Given the description of an element on the screen output the (x, y) to click on. 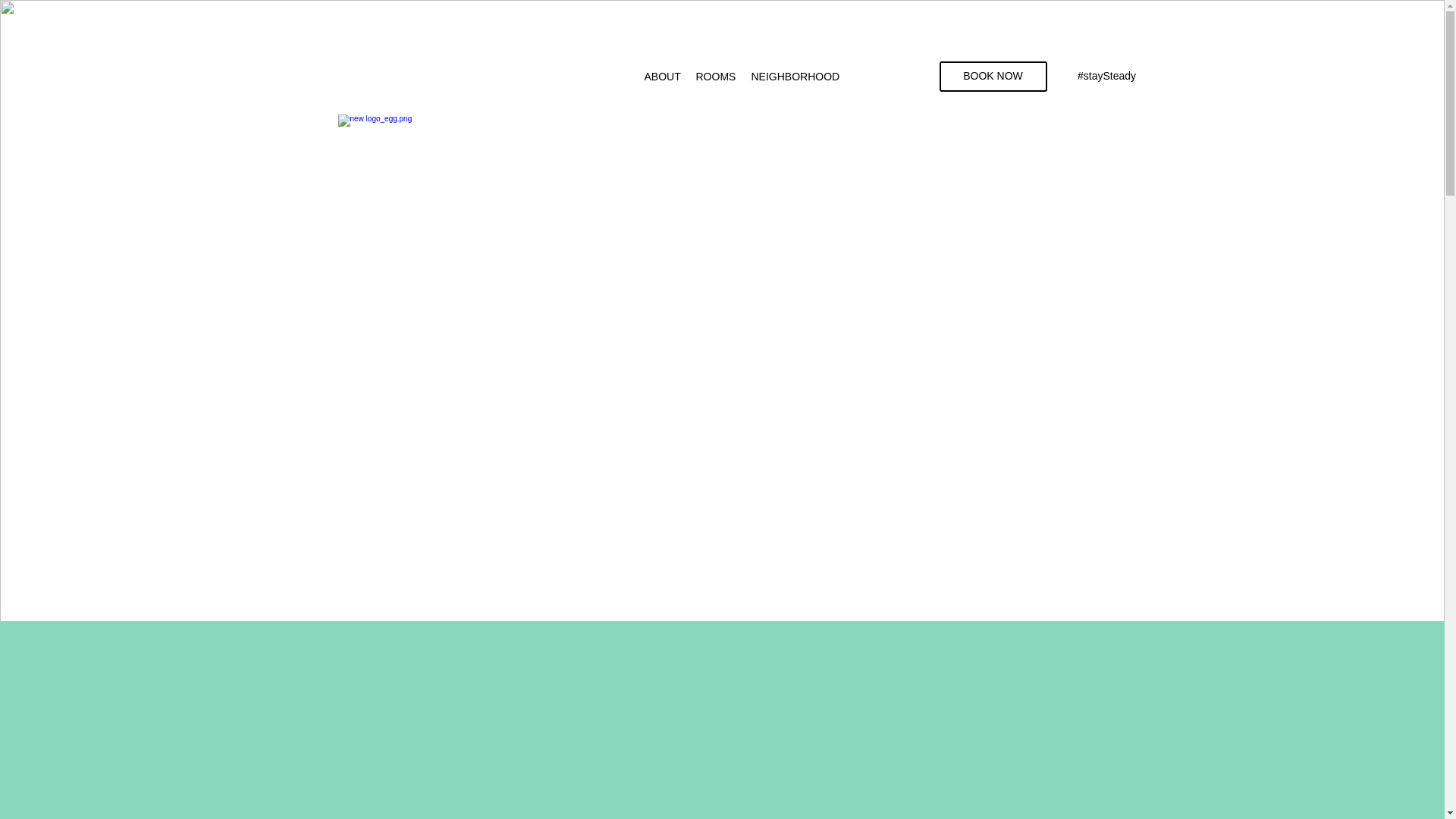
BOOK NOW (992, 76)
ROOMS (716, 76)
ABOUT (662, 76)
NEIGHBORHOOD (794, 76)
